Given the description of an element on the screen output the (x, y) to click on. 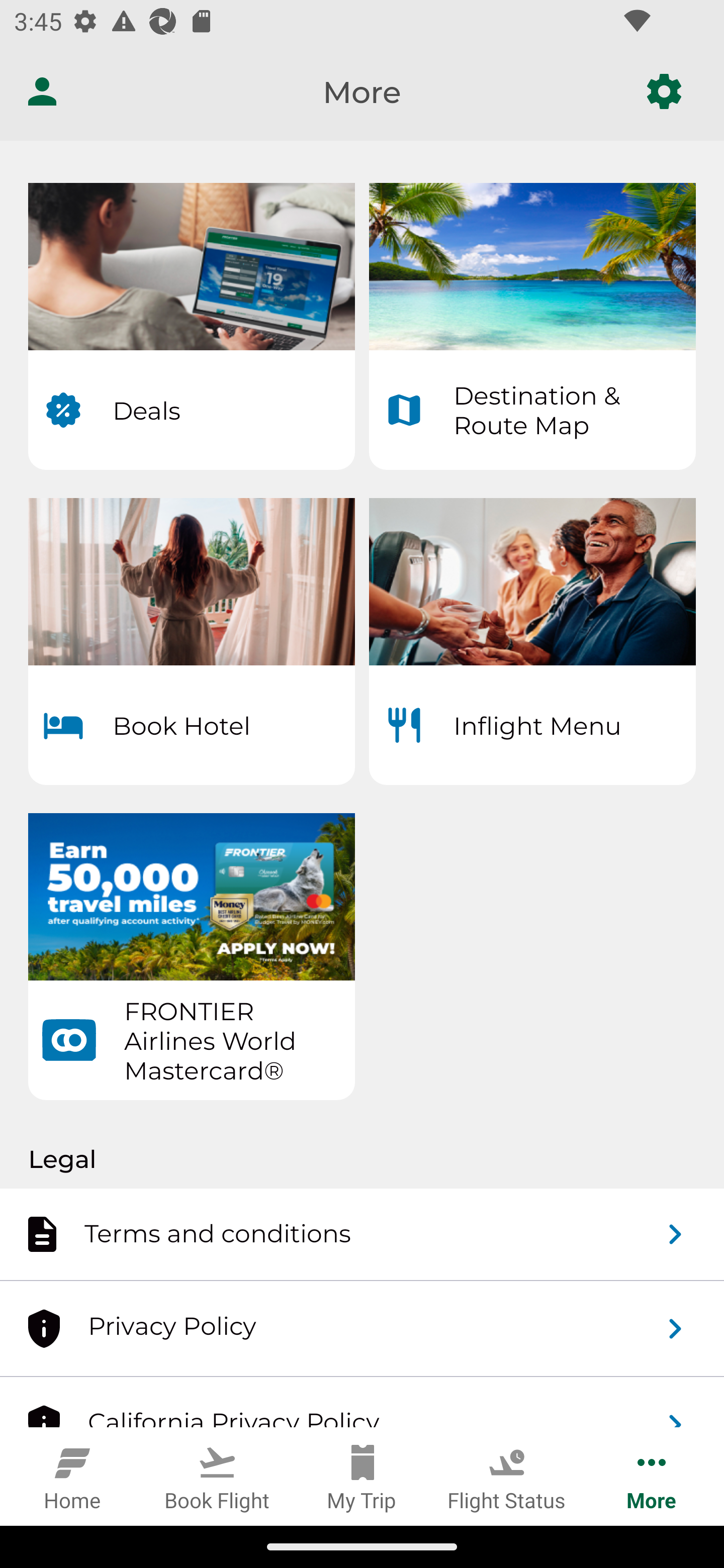
Deals (191, 326)
Destination &
Route Map (532, 326)
Book Hotel (191, 641)
Inflight Menu (532, 641)
FRONTIER Airlines World Mastercard® (191, 956)
Terms and conditions (362, 1233)
Privacy Policy (362, 1328)
Home (72, 1475)
Book Flight (216, 1475)
My Trip (361, 1475)
Flight Status (506, 1475)
